Given the description of an element on the screen output the (x, y) to click on. 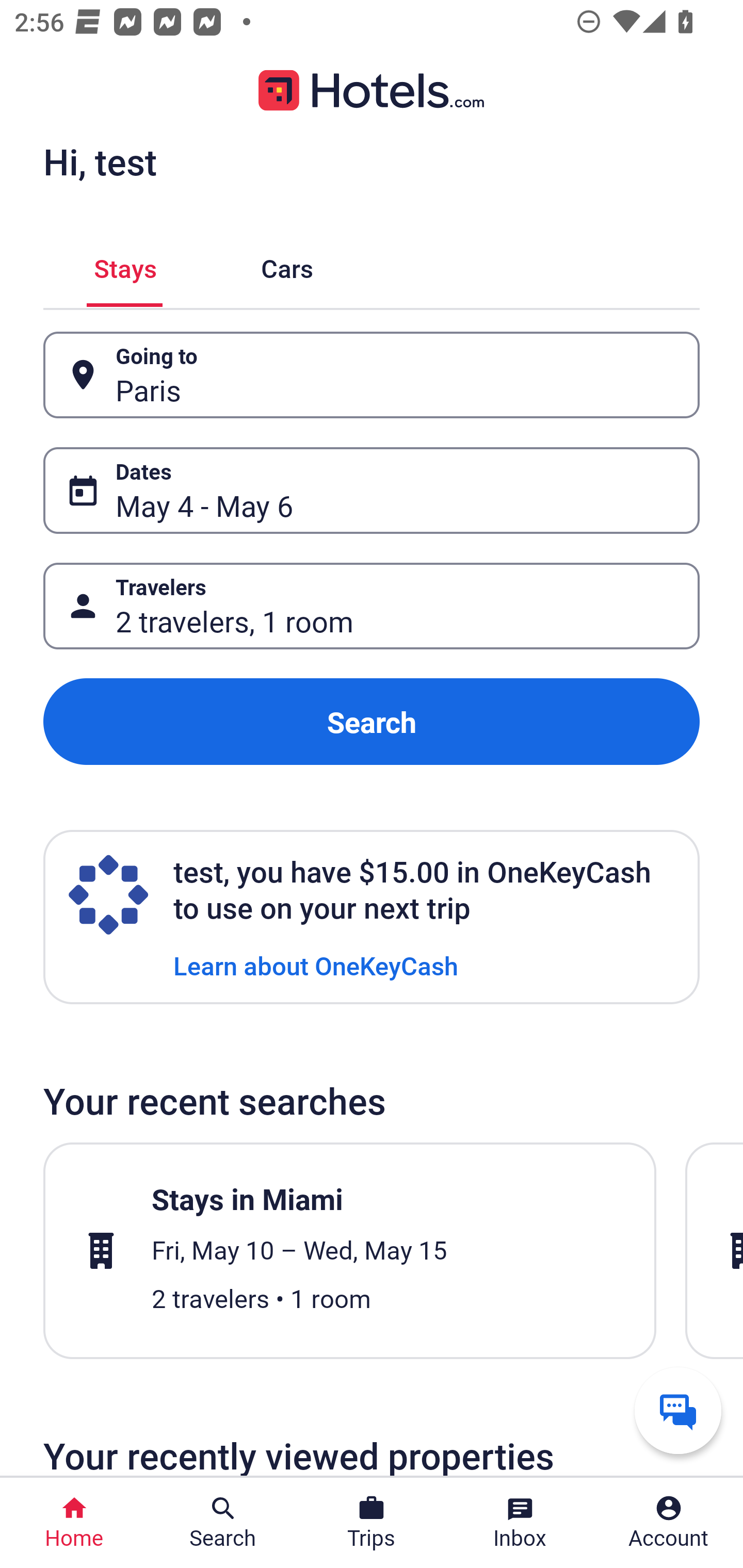
Hi, test (99, 161)
Cars (286, 265)
Going to Button Paris (371, 375)
Dates Button May 4 - May 6 (371, 489)
Travelers Button 2 travelers, 1 room (371, 605)
Search (371, 721)
Learn about OneKeyCash Learn about OneKeyCash Link (315, 964)
Get help from a virtual agent (677, 1410)
Search Search Button (222, 1522)
Trips Trips Button (371, 1522)
Inbox Inbox Button (519, 1522)
Account Profile. Button (668, 1522)
